Given the description of an element on the screen output the (x, y) to click on. 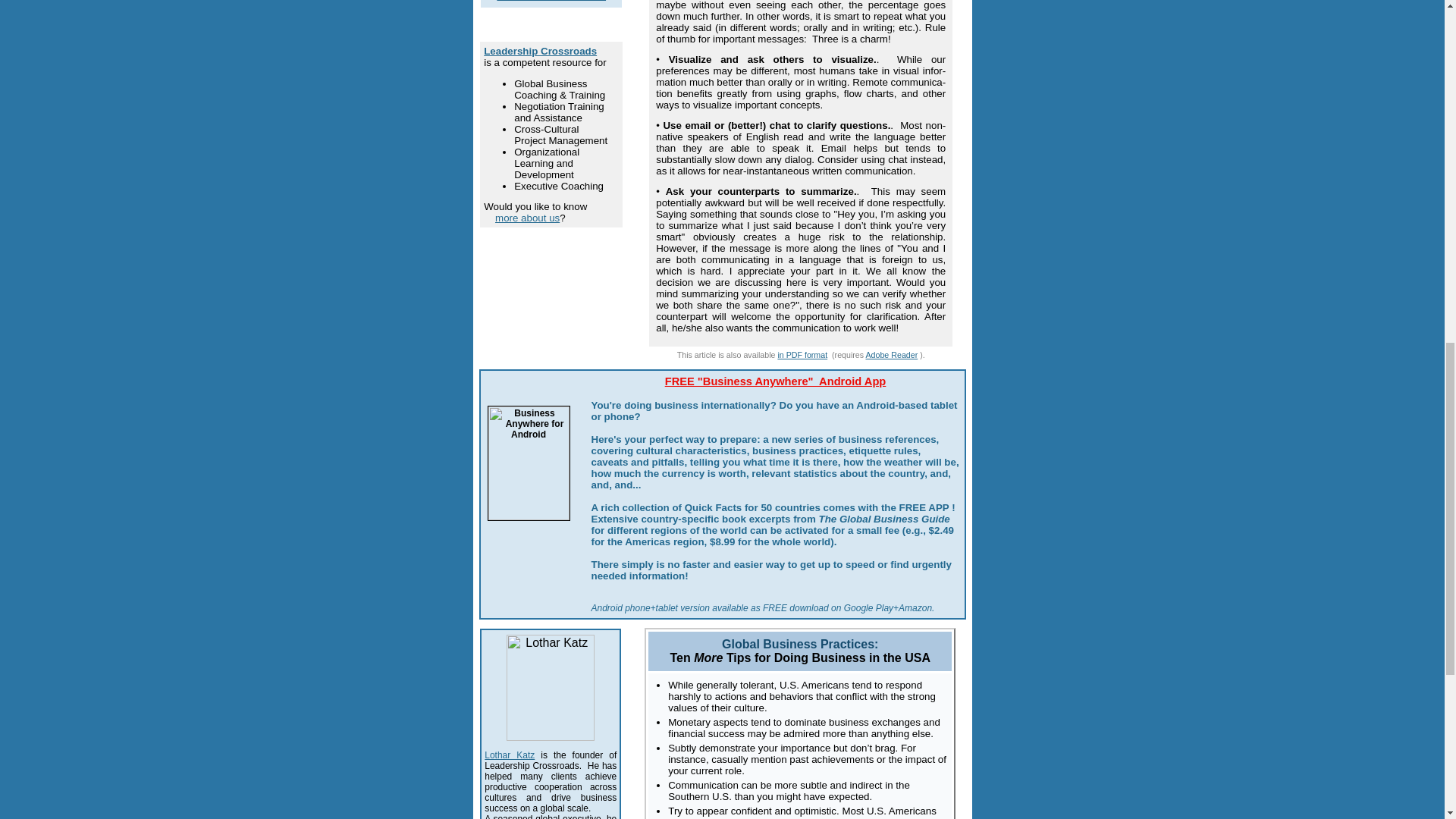
Click to visit our home page (539, 50)
Click to learn more about our team (509, 755)
Click to learn more! (775, 381)
in PDF format (802, 354)
Download Country Sections (550, 0)
FREE "Business Anywhere"  Android App (775, 381)
more about us (527, 217)
Click to learn more about us! (527, 217)
Download Country Section PDF files now! (550, 0)
Adobe Reader (890, 354)
Click to open PDF version (802, 354)
Leadership Crossroads (539, 50)
Lothar Katz (509, 755)
